Given the description of an element on the screen output the (x, y) to click on. 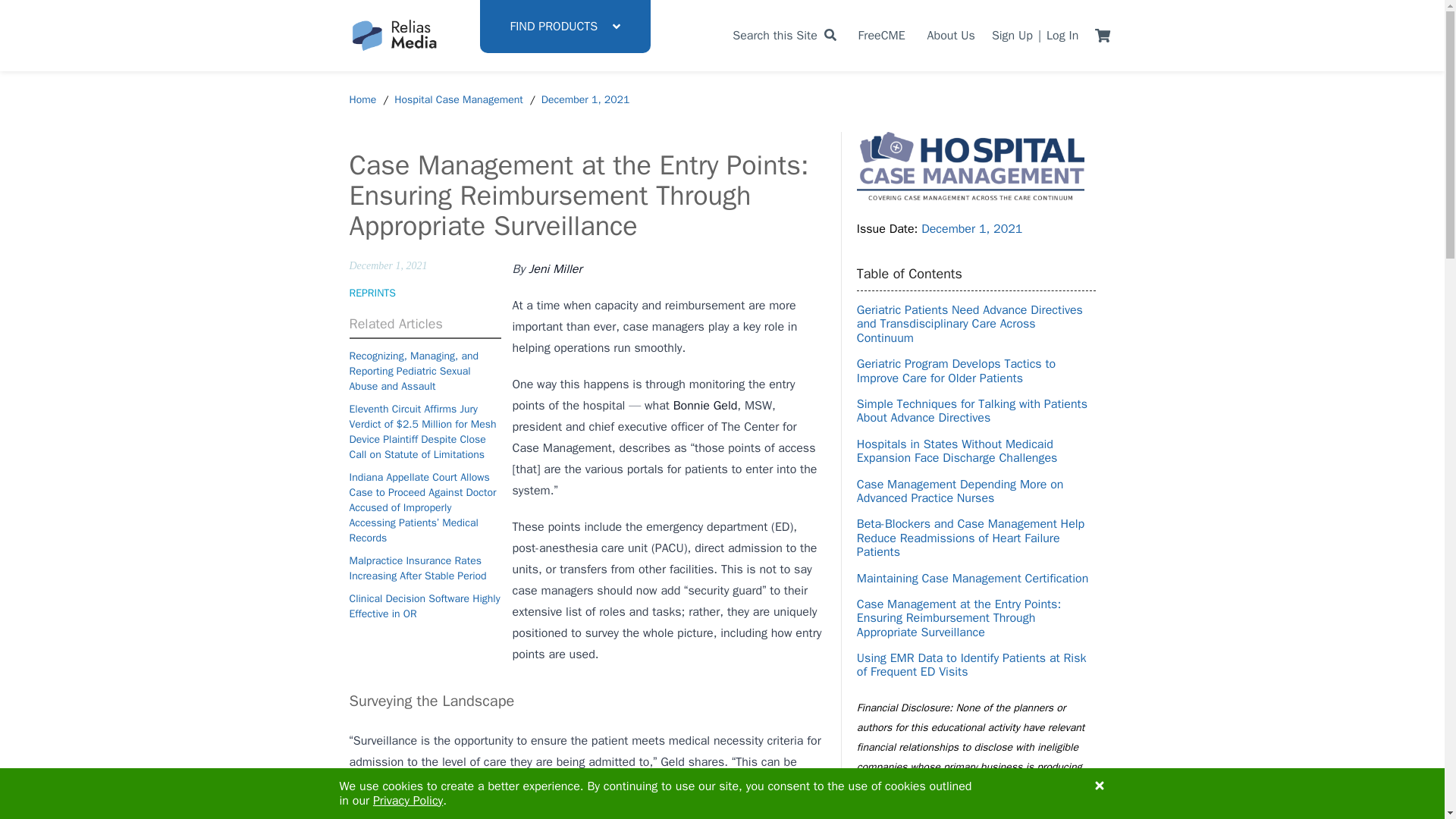
Sign Up (1011, 35)
About Us (951, 35)
Home (362, 99)
Log In (1062, 35)
FIND PRODUCTS (564, 26)
December 1, 2021 (585, 99)
Hospital Case Management (458, 99)
FreeCME (882, 35)
Search this Site (783, 35)
